Given the description of an element on the screen output the (x, y) to click on. 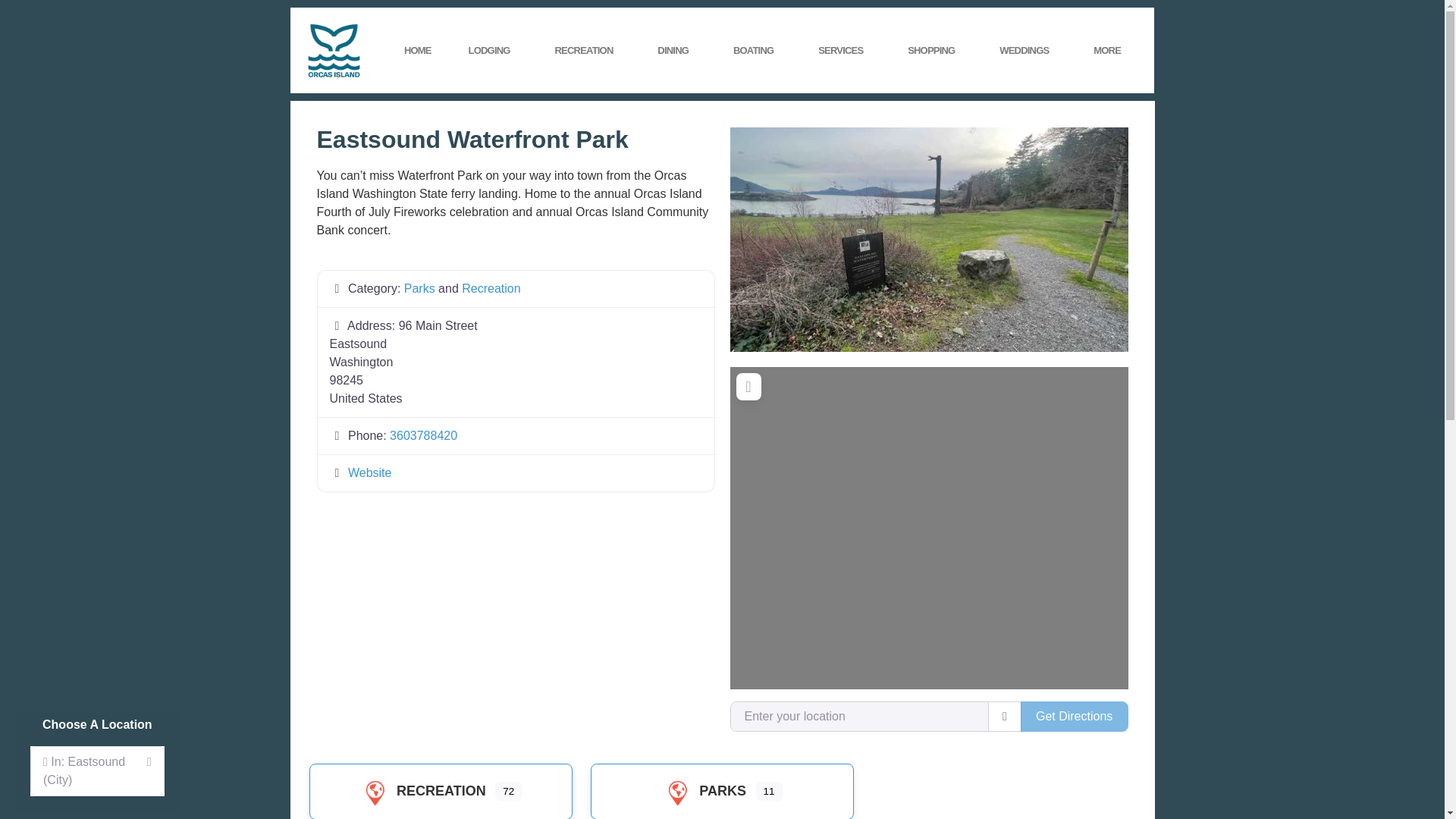
RECREATION (587, 50)
HOME (417, 50)
DINING (676, 50)
BOATING (756, 50)
Change Location (97, 771)
LODGING (492, 50)
SERVICES (844, 50)
